Given the description of an element on the screen output the (x, y) to click on. 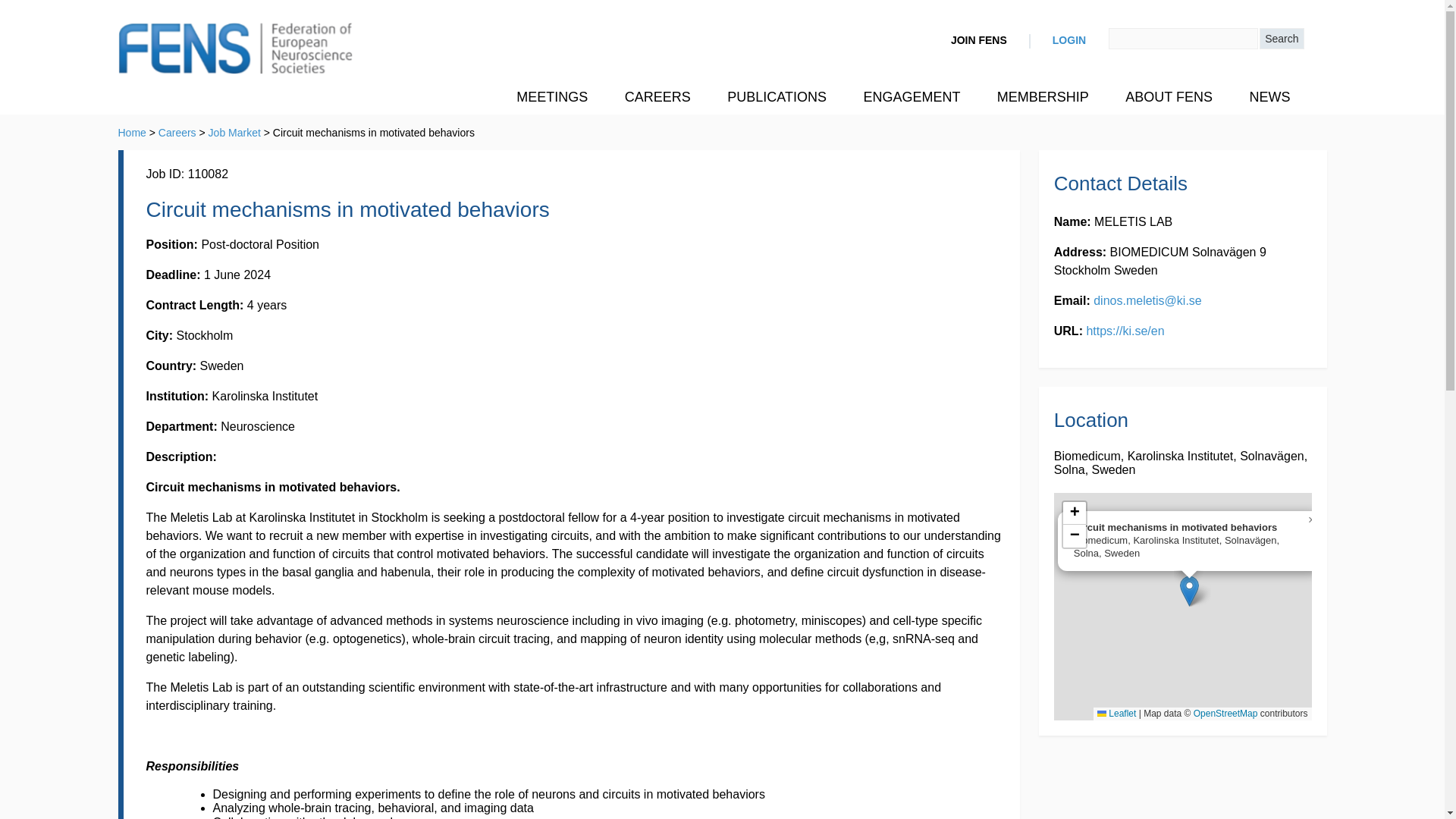
PUBLICATIONS (776, 97)
JOIN FENS (978, 41)
MEETINGS (551, 97)
Search (1281, 38)
Go to Careers. (177, 132)
CAREERS (657, 97)
Search (1281, 38)
Zoom in (1074, 513)
Federation of European Neuroscience Societies (234, 49)
Go to Job Market. (234, 132)
